Given the description of an element on the screen output the (x, y) to click on. 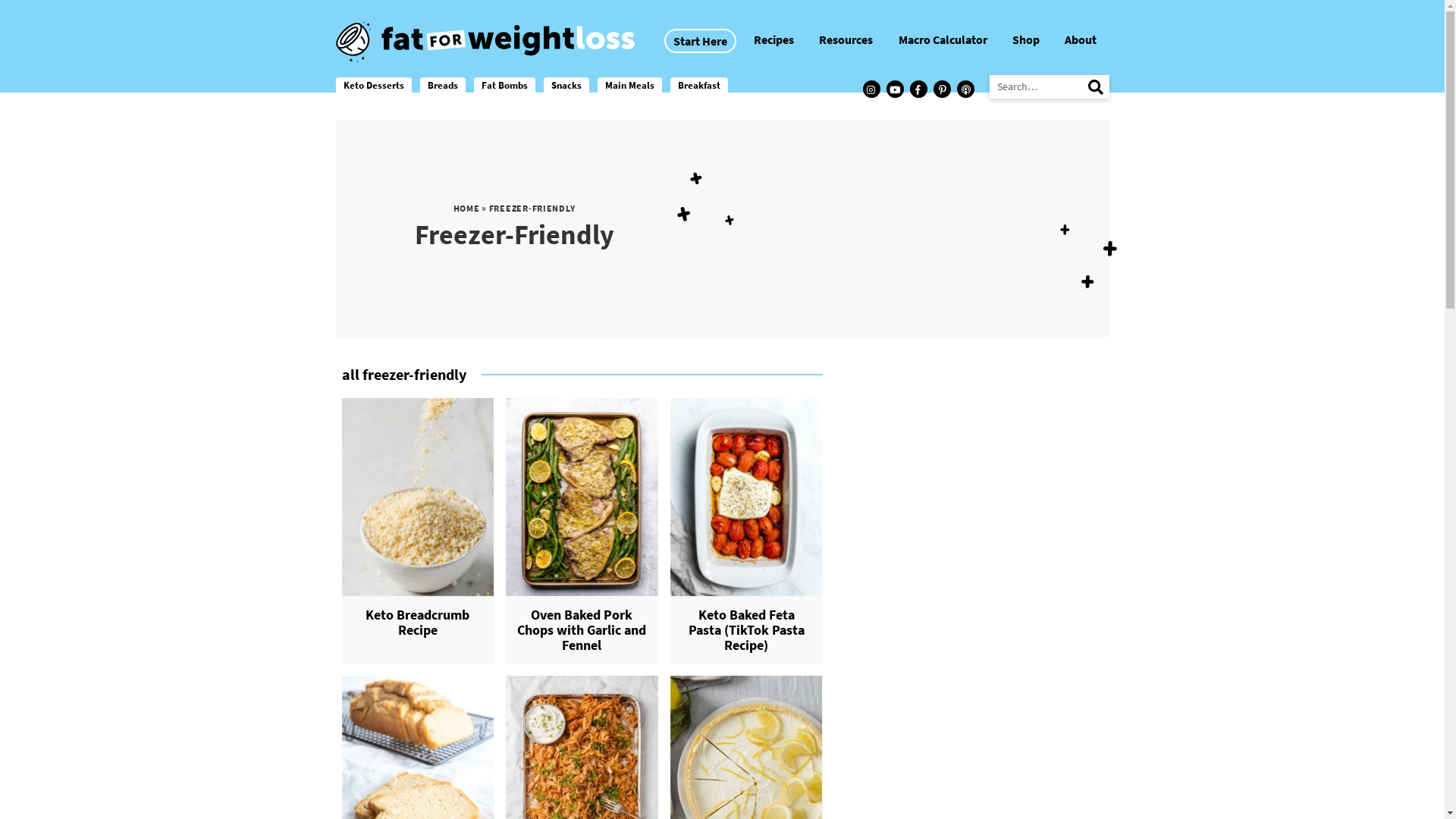
Keto Breadcrumb Recipe Element type: text (417, 622)
Breakfast Element type: text (699, 84)
Macro Calculator Element type: text (942, 39)
Keto Desserts Element type: text (373, 84)
Fat Bombs Element type: text (503, 84)
Recipes Element type: text (773, 39)
FatForWeightLoss Element type: text (484, 41)
About Element type: text (1080, 39)
Shop Element type: text (1025, 39)
Resources Element type: text (845, 39)
YouTube Element type: text (894, 88)
HOME Element type: text (466, 207)
Start Here Element type: text (700, 40)
Oven Baked Pork Chops with Garlic and Fennel Element type: text (581, 630)
Facebook Element type: text (918, 88)
Snacks Element type: text (565, 84)
Keto Baked Feta Pasta (TikTok Pasta Recipe) Element type: text (746, 630)
Breads Element type: text (442, 84)
Skip to primary navigation Element type: text (0, 0)
Instagram Element type: text (871, 88)
Pinterest Element type: text (941, 88)
Podcast Element type: text (965, 88)
Main Meals Element type: text (629, 84)
Search Element type: text (1090, 86)
